Given the description of an element on the screen output the (x, y) to click on. 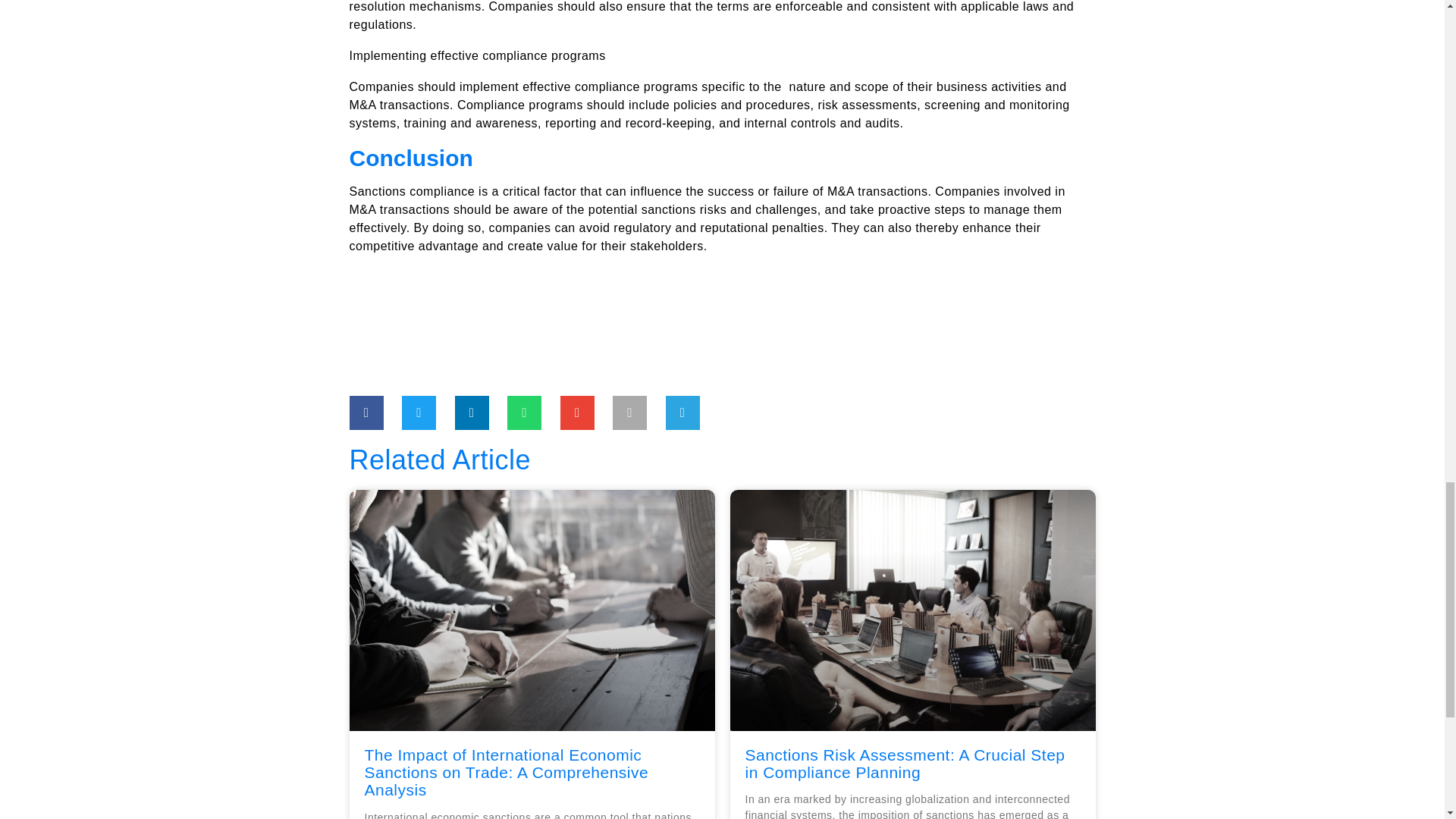
Related Article (721, 460)
